Given the description of an element on the screen output the (x, y) to click on. 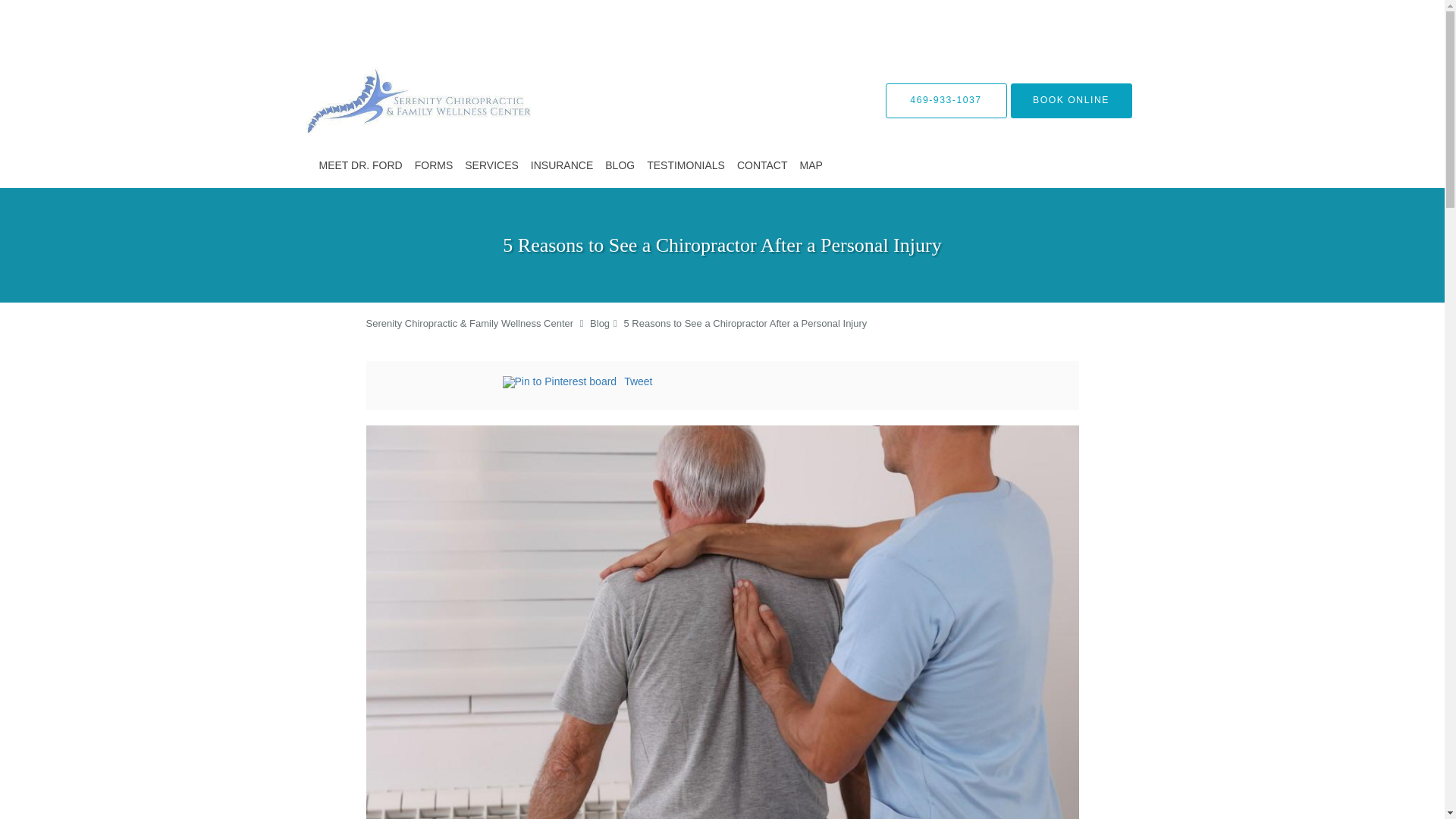
BLOG (619, 165)
BOOK ONLINE (1070, 100)
INSURANCE (561, 165)
Tweet (638, 381)
MAP (810, 165)
Facebook social button (441, 383)
469-933-1037 (946, 100)
5 Reasons to See a Chiropractor After a Personal Injury (744, 323)
SERVICES (491, 165)
MEET DR. FORD (360, 165)
FORMS (434, 165)
TESTIMONIALS (685, 165)
CONTACT (761, 165)
Blog (599, 323)
